Given the description of an element on the screen output the (x, y) to click on. 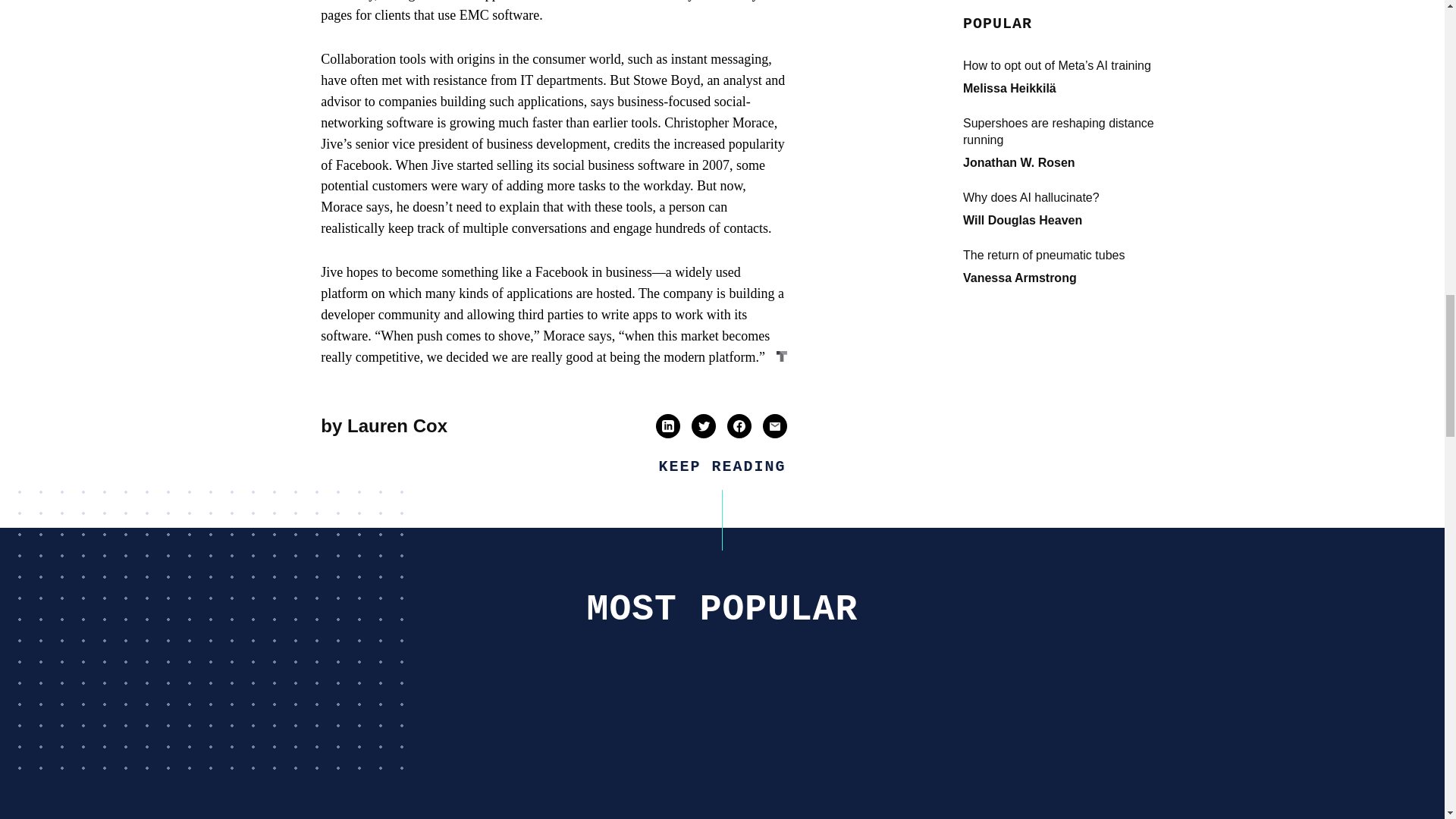
Supershoes are reshaping distance running (1013, 755)
Share story on linkedin (668, 426)
Lauren Cox (396, 425)
Share story on twitter (703, 426)
Share story on facebook (739, 426)
Share story on email (774, 426)
